Given the description of an element on the screen output the (x, y) to click on. 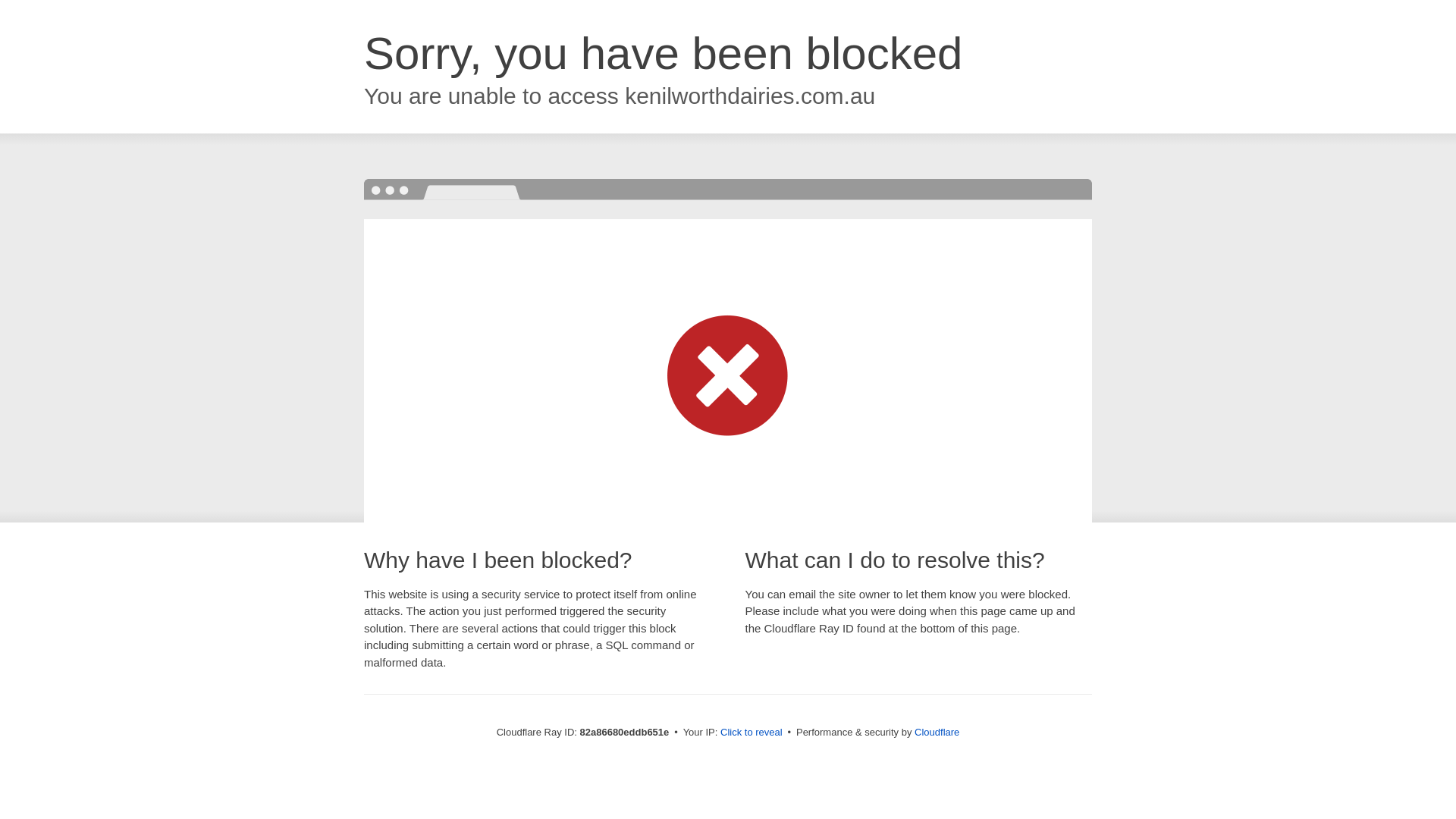
Click to reveal Element type: text (751, 732)
Cloudflare Element type: text (936, 731)
